Given the description of an element on the screen output the (x, y) to click on. 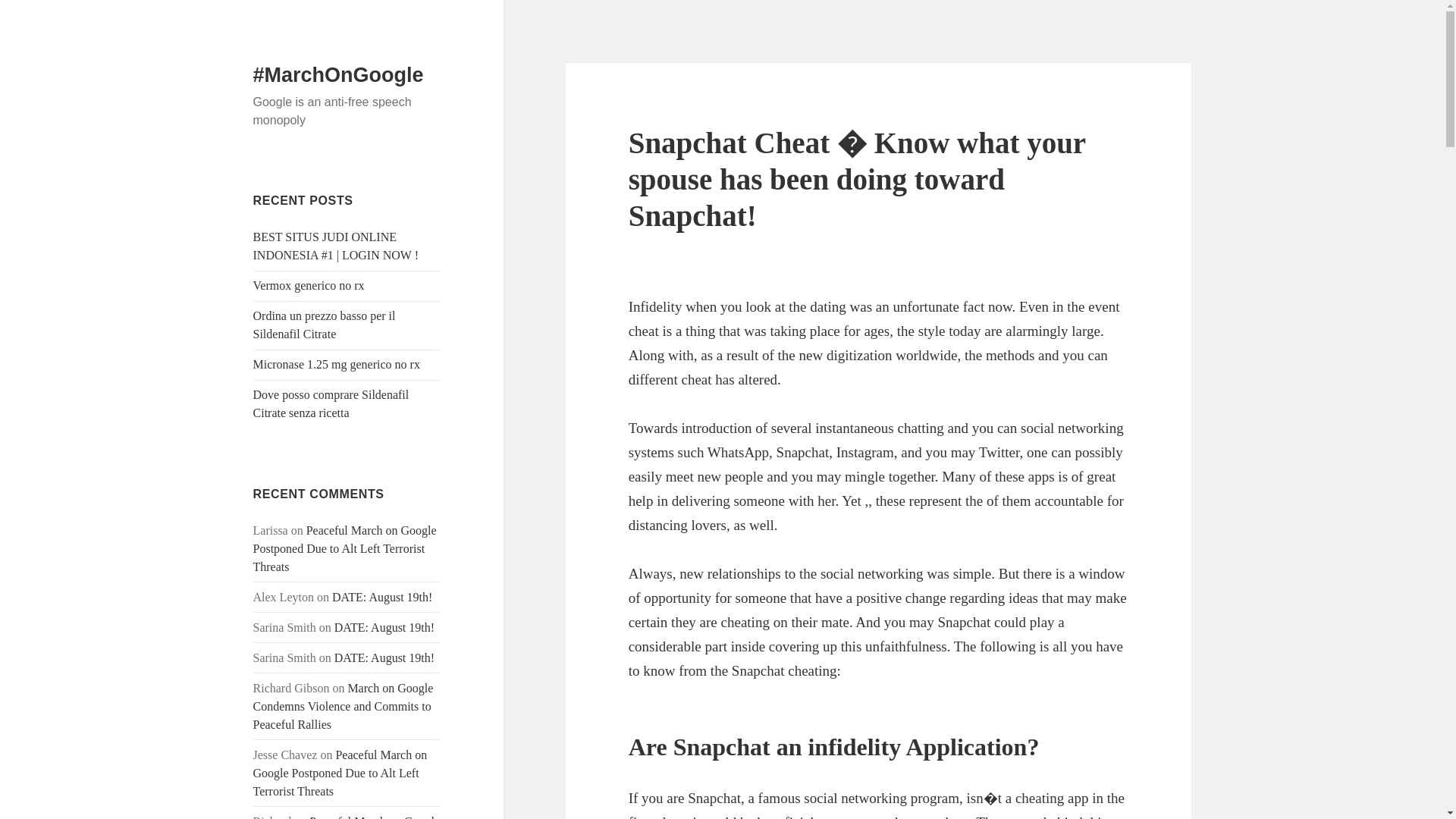
Dove posso comprare Sildenafil Citrate senza ricetta (331, 403)
DATE: August 19th! (381, 596)
DATE: August 19th! (383, 657)
DATE: August 19th! (383, 626)
Micronase 1.25 mg generico no rx (336, 364)
Vermox generico no rx (309, 285)
Ordina un prezzo basso per il Sildenafil Citrate (324, 324)
